Given the description of an element on the screen output the (x, y) to click on. 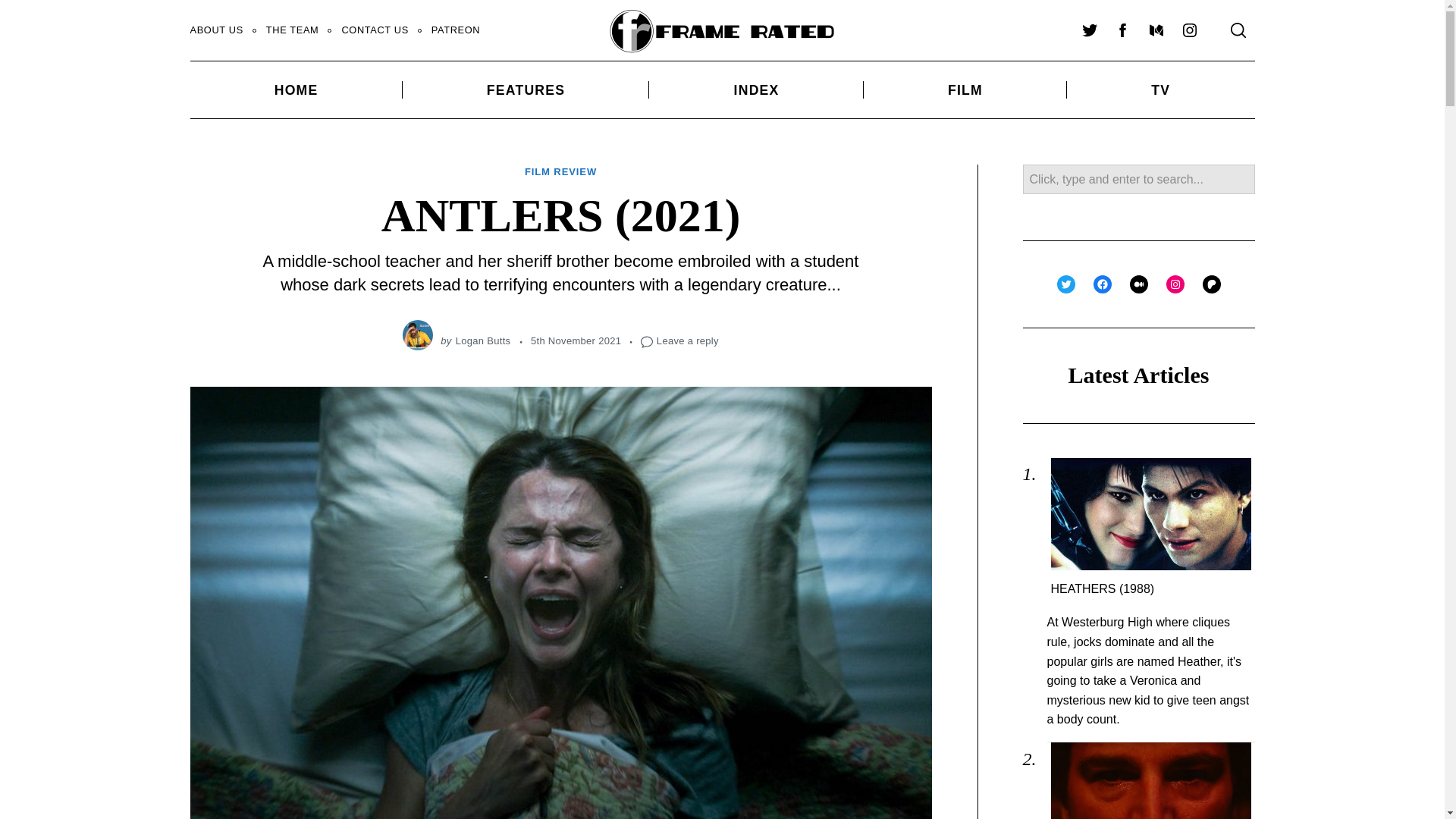
FILM (965, 89)
TV (1160, 89)
Twitter (1088, 29)
FEATURES (526, 89)
Medium (1155, 29)
Instagram (1188, 29)
PATREON (456, 30)
INDEX (756, 89)
Facebook (1121, 29)
HOME (295, 89)
